Given the description of an element on the screen output the (x, y) to click on. 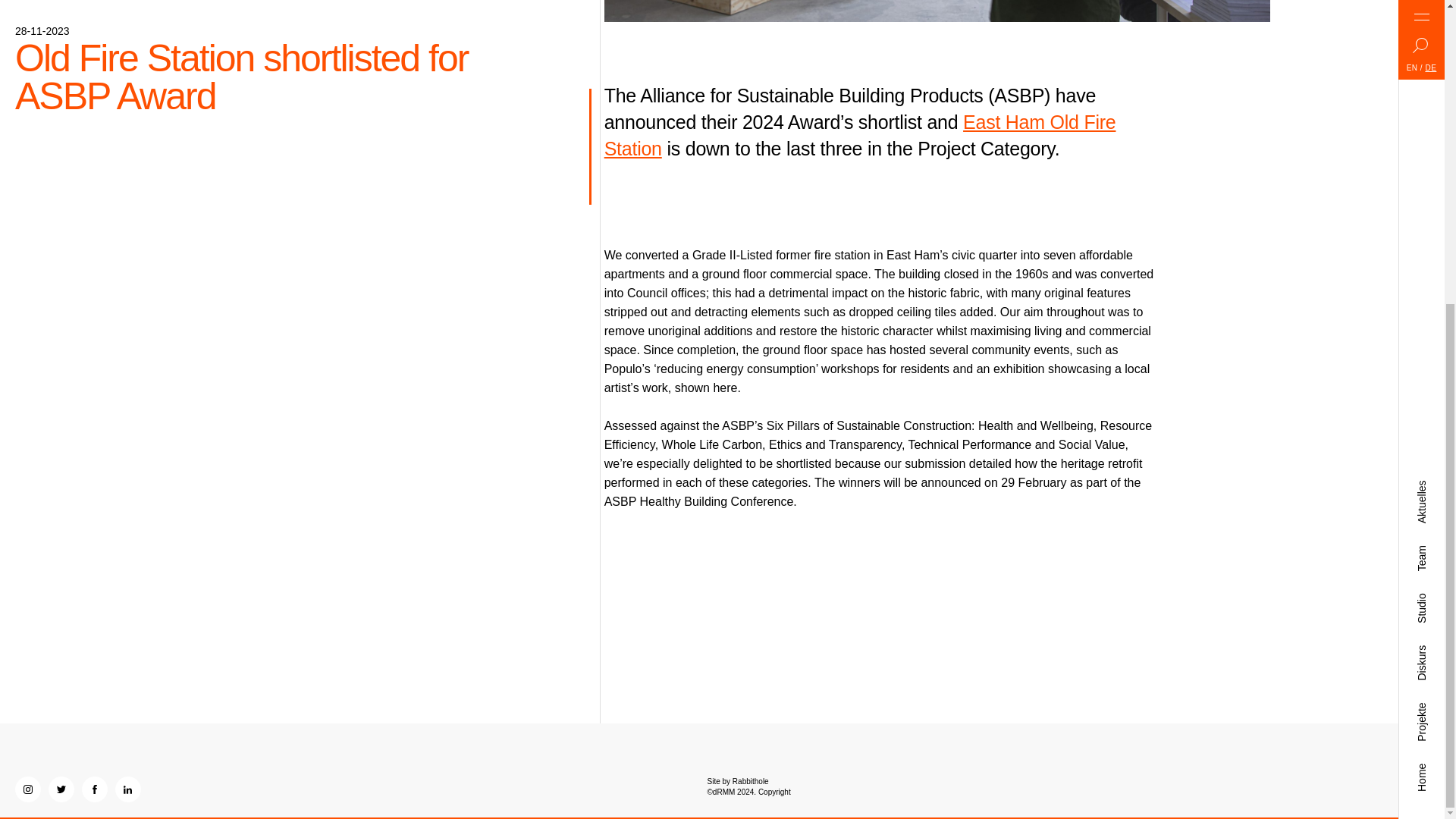
Team (1428, 73)
Home (1429, 292)
